Given the description of an element on the screen output the (x, y) to click on. 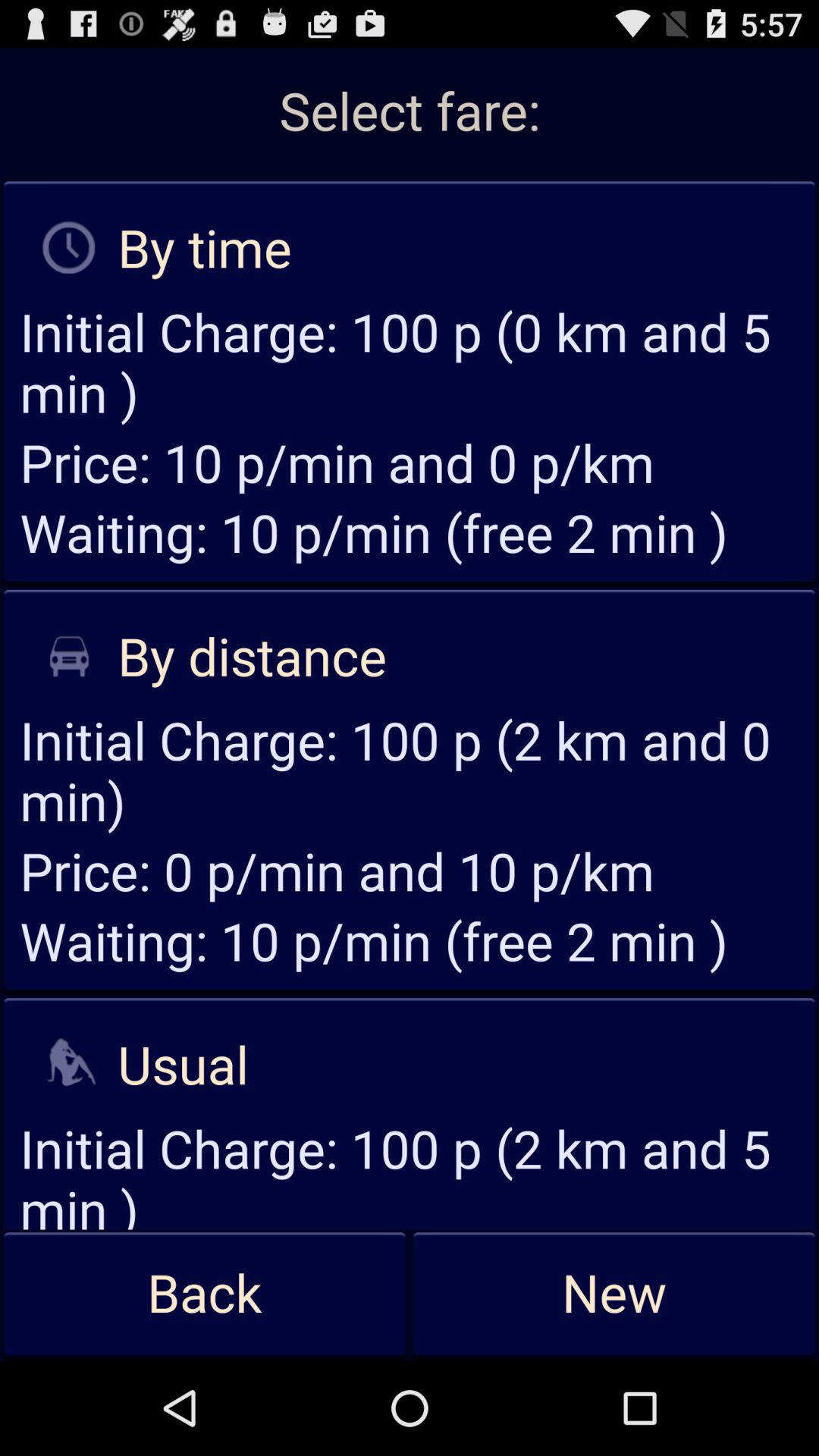
turn on new icon (614, 1294)
